Given the description of an element on the screen output the (x, y) to click on. 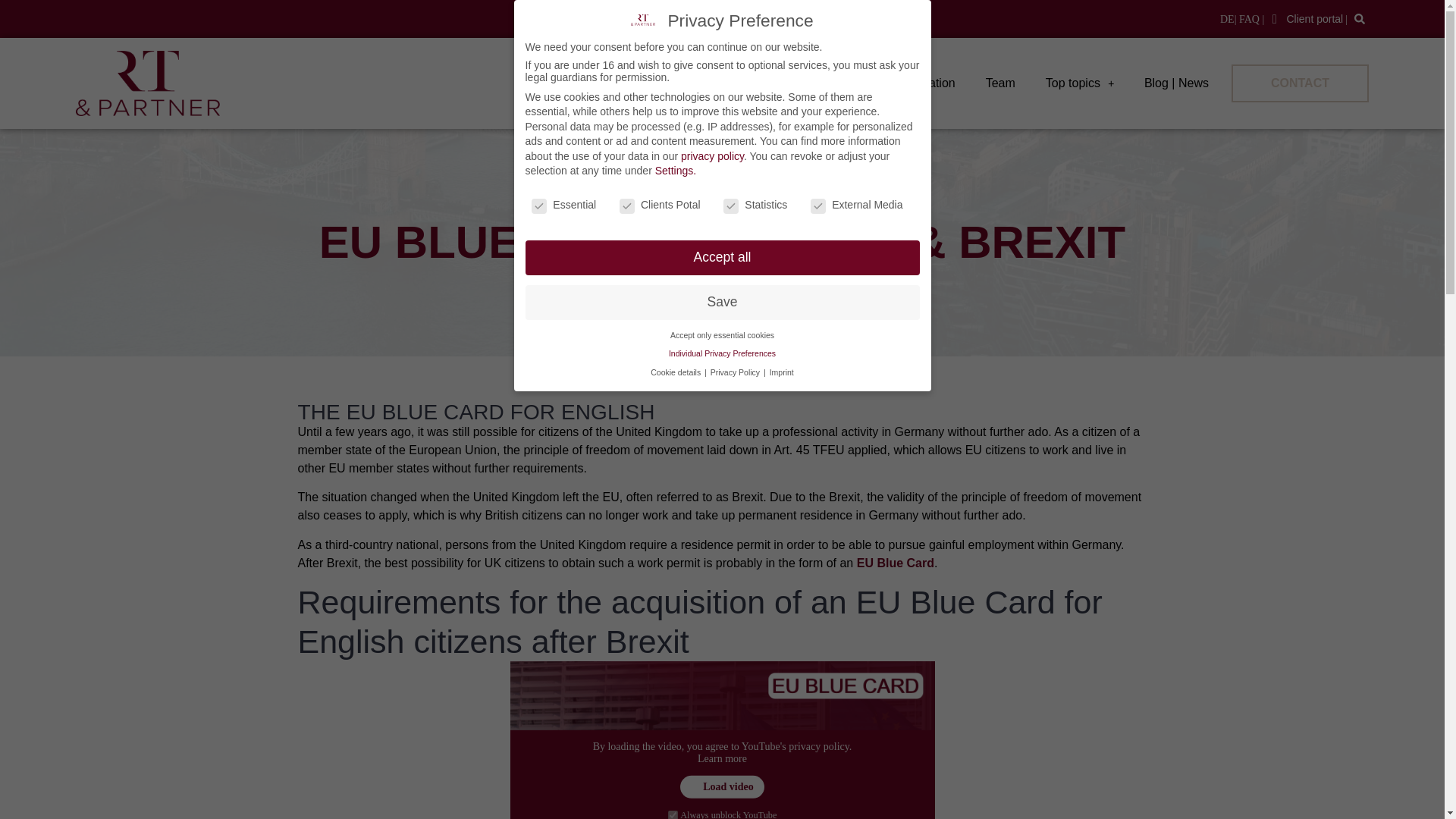
Language switcher : German (1227, 19)
CONTACT (1299, 83)
Team (1000, 83)
1 (673, 814)
Top topics (1079, 83)
EU Blue Card (895, 562)
FAQ  (1250, 19)
Learn more (721, 758)
Immigration (922, 83)
Client portal (1304, 18)
DE (1227, 19)
Load video (721, 786)
